Given the description of an element on the screen output the (x, y) to click on. 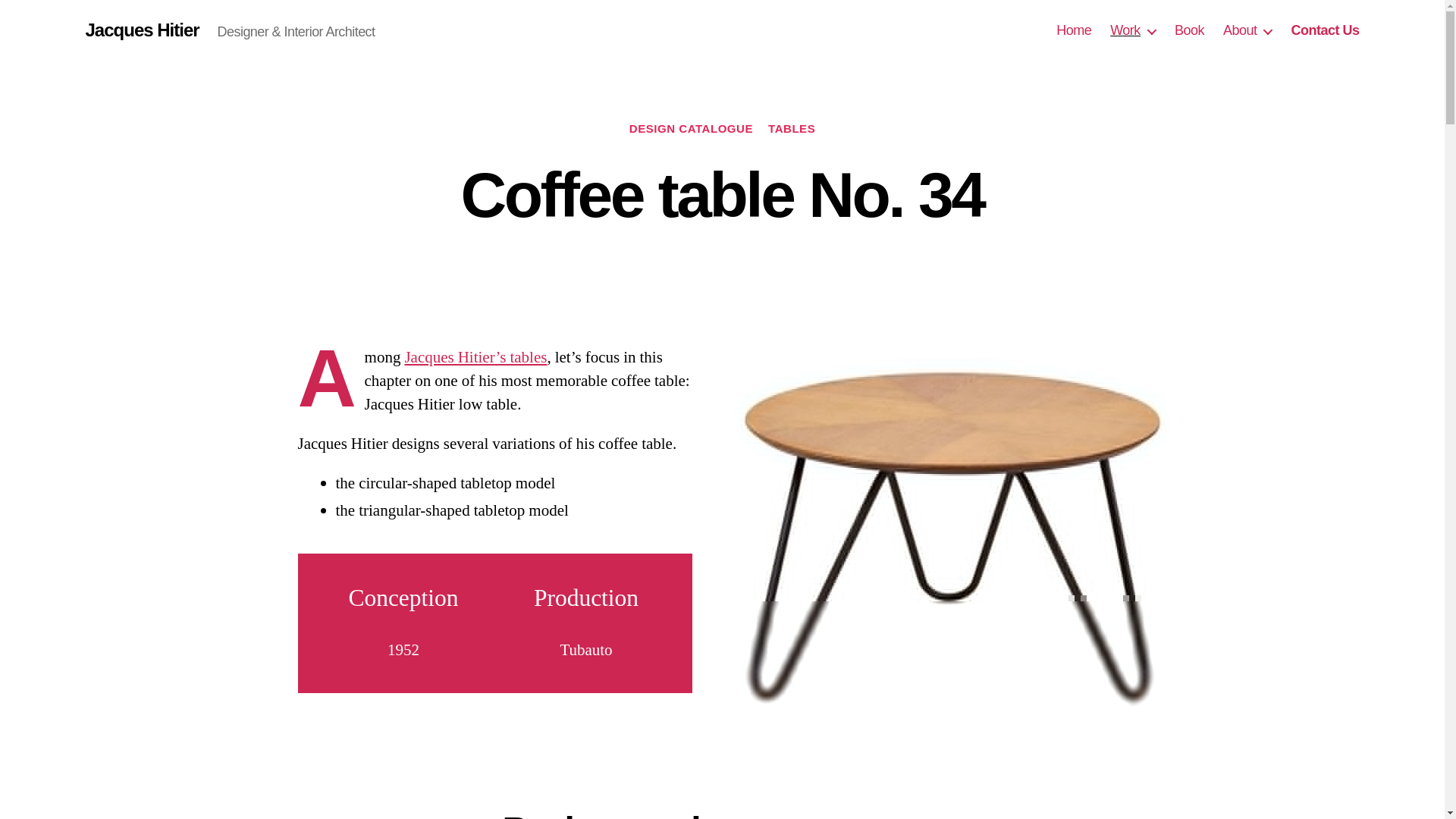
Home (1073, 30)
Contact Us (1324, 30)
Book (1189, 30)
Jacques Hitier (141, 30)
Work (1132, 30)
About (1247, 30)
